Given the description of an element on the screen output the (x, y) to click on. 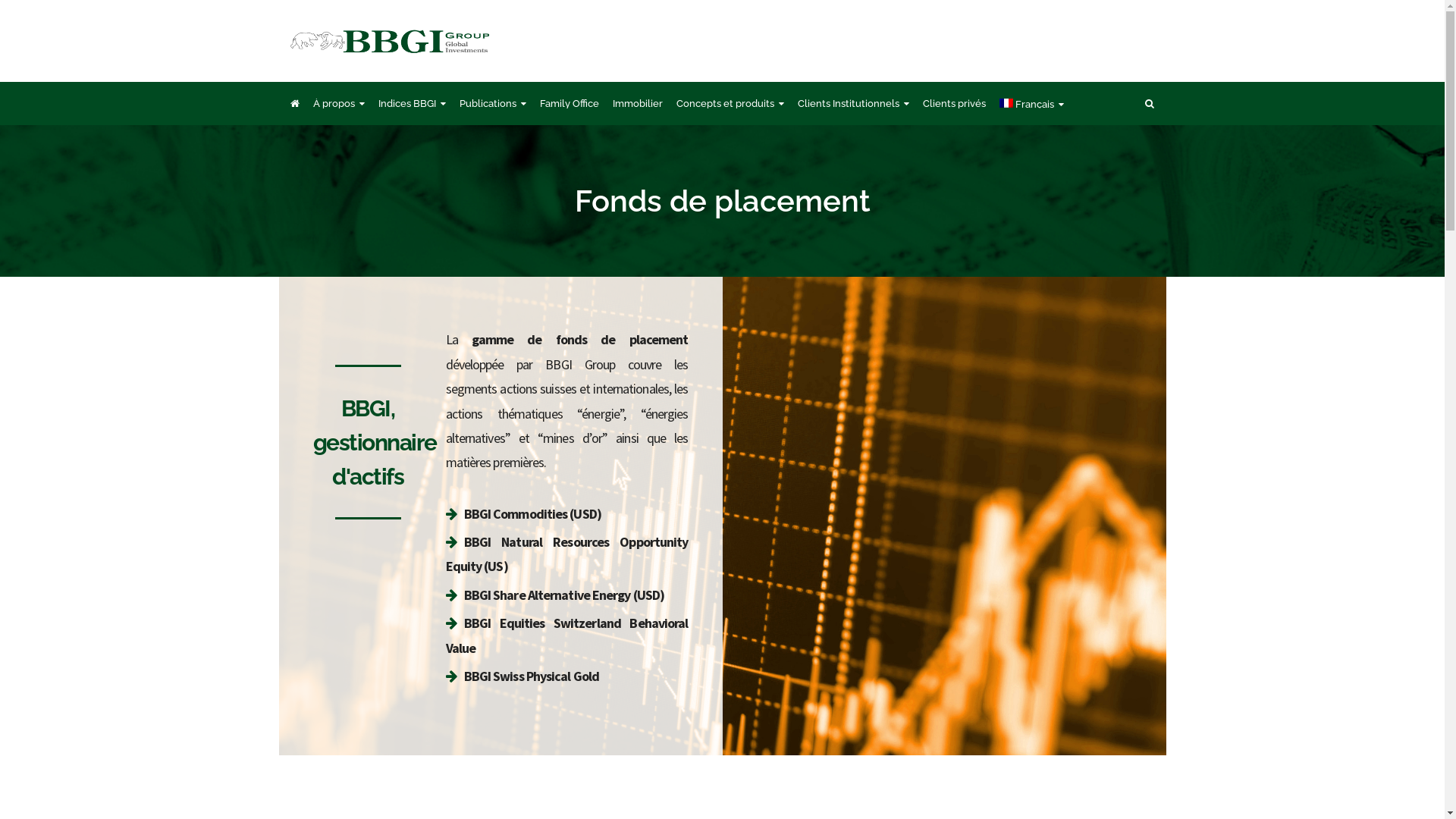
Rechercher Element type: text (174, 22)
Clients Institutionnels Element type: text (853, 103)
Indices BBGI Element type: text (411, 103)
Immobilier Element type: text (637, 103)
Family Office Element type: text (569, 103)
Publications Element type: text (492, 103)
Concepts et produits Element type: text (730, 103)
